Given the description of an element on the screen output the (x, y) to click on. 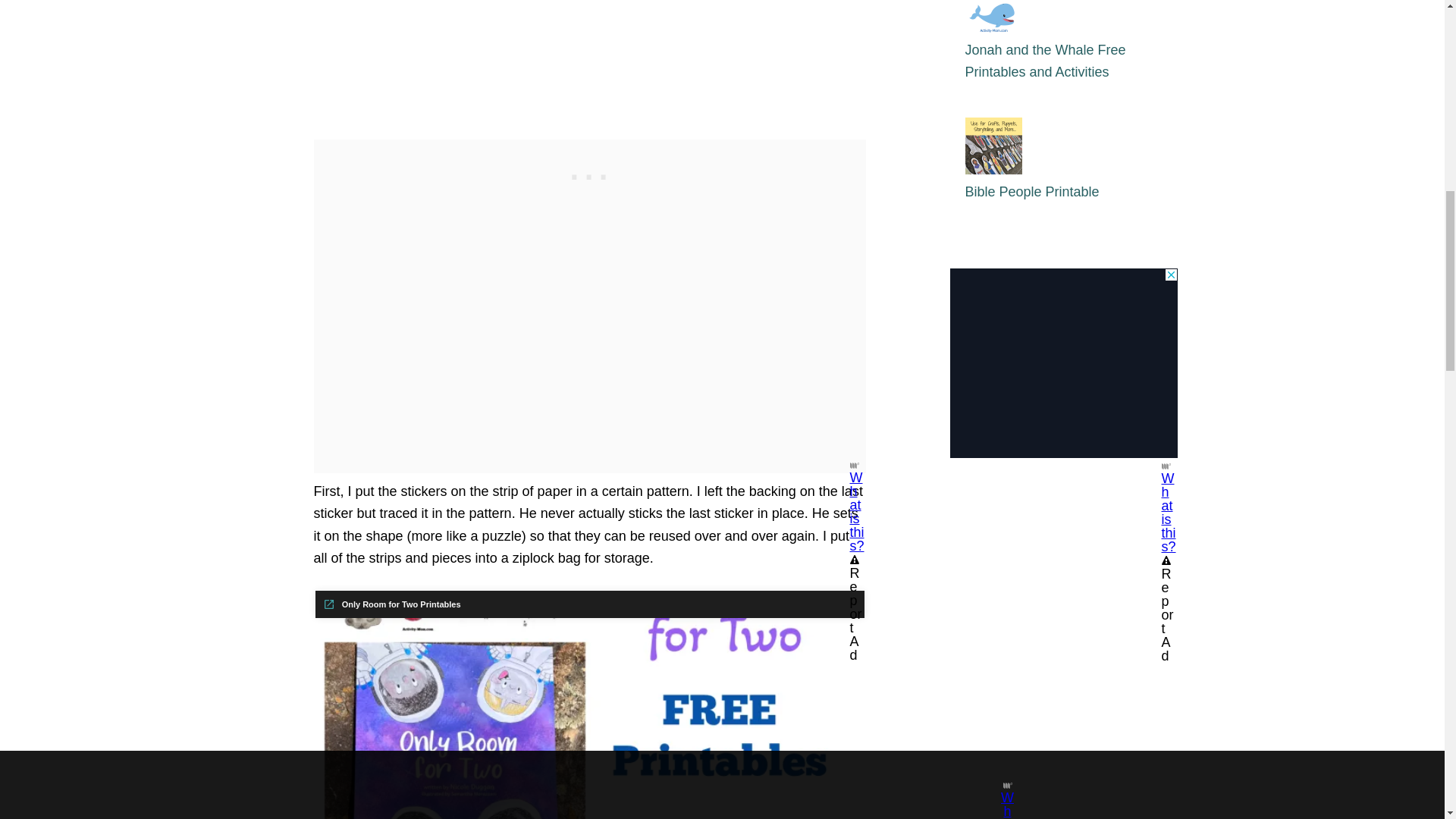
Jonah and the Whale Free Printables and Activities (1044, 60)
Bible People Printable (1031, 191)
  Only Room for Two Printables (392, 604)
3rd party ad content (1062, 362)
3rd party ad content (590, 173)
